Given the description of an element on the screen output the (x, y) to click on. 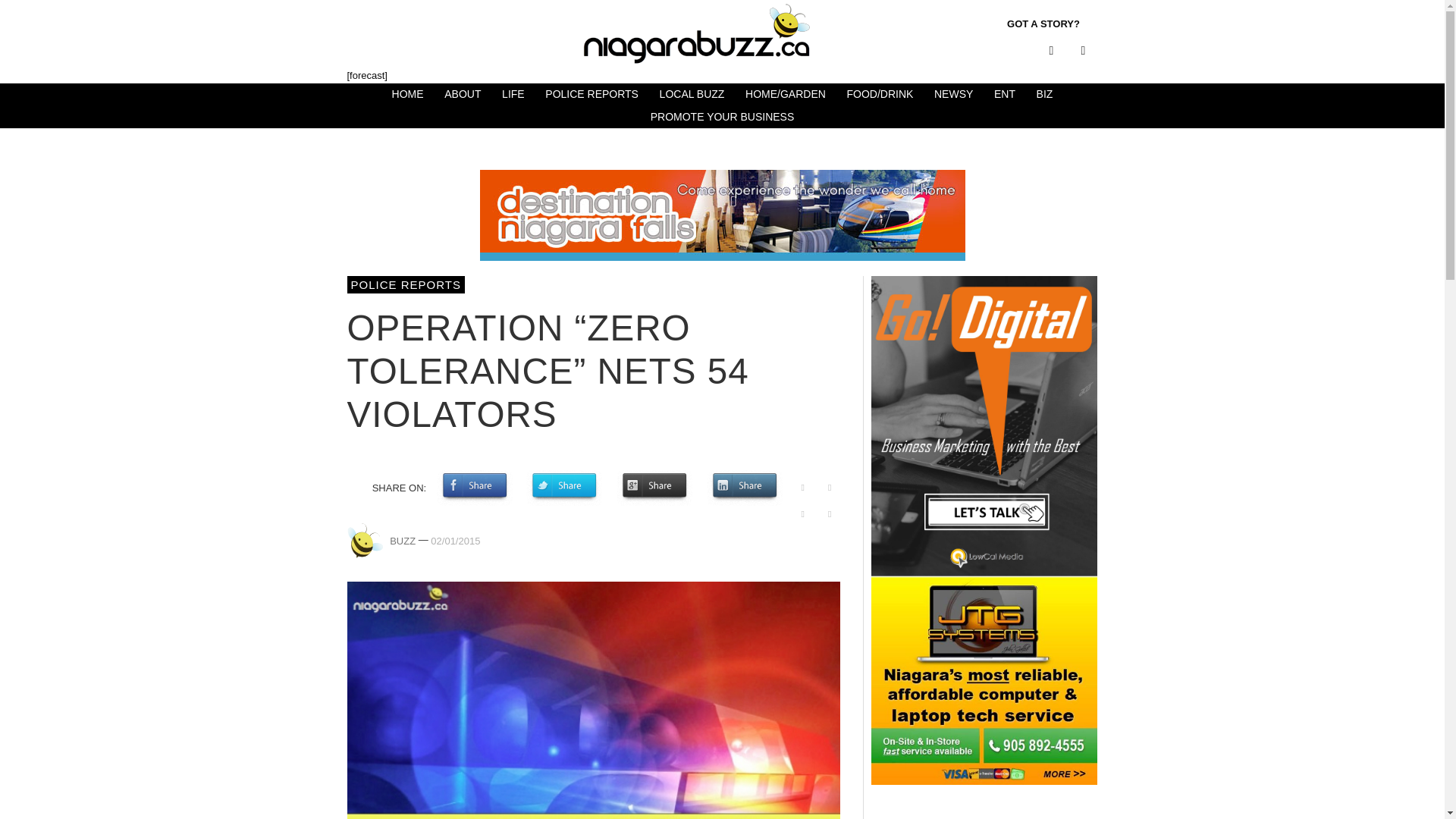
POLICE REPORTS (405, 285)
Share on Twitter (563, 487)
Share on LinkedIn (744, 487)
HOME (407, 94)
Share on Tumblr (829, 487)
Share on Pinterest (802, 487)
NEWSY (952, 94)
GOT A STORY? (1043, 24)
ABOUT (462, 94)
LOCAL BUZZ (691, 94)
